Given the description of an element on the screen output the (x, y) to click on. 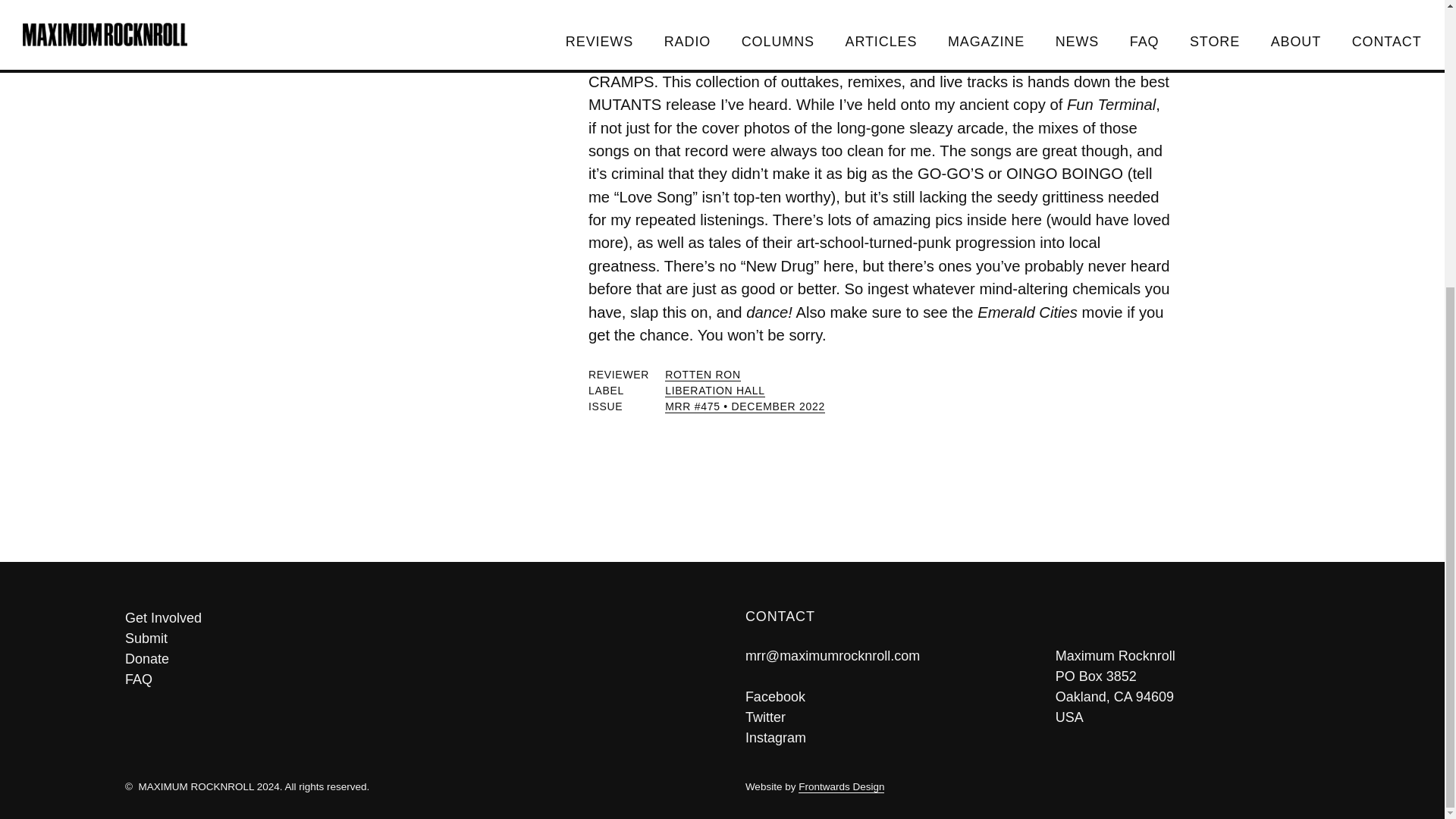
Facebook (775, 696)
Instagram (775, 737)
Donate (411, 659)
LIBERATION HALL (715, 390)
Twitter (765, 717)
ROTTEN RON (703, 374)
Get Involved (411, 618)
FAQ (411, 679)
Submit (411, 638)
Frontwards Design (840, 787)
